Given the description of an element on the screen output the (x, y) to click on. 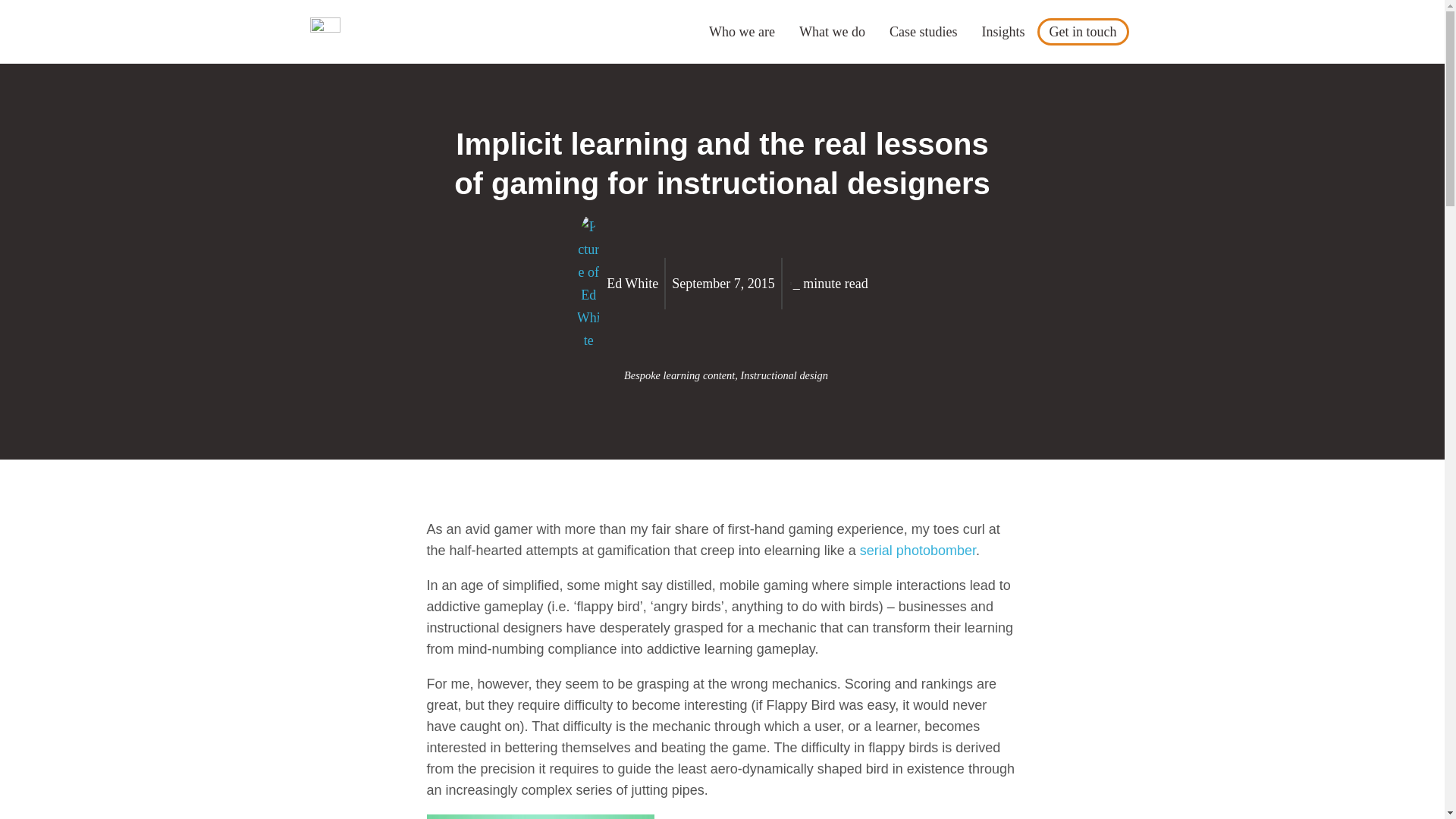
serial photobomber (917, 549)
Case studies (923, 31)
Instructional design (783, 375)
Who we are (742, 31)
Get in touch (1082, 31)
Insights (1002, 31)
What we do (832, 31)
Bespoke learning content (679, 375)
